Given the description of an element on the screen output the (x, y) to click on. 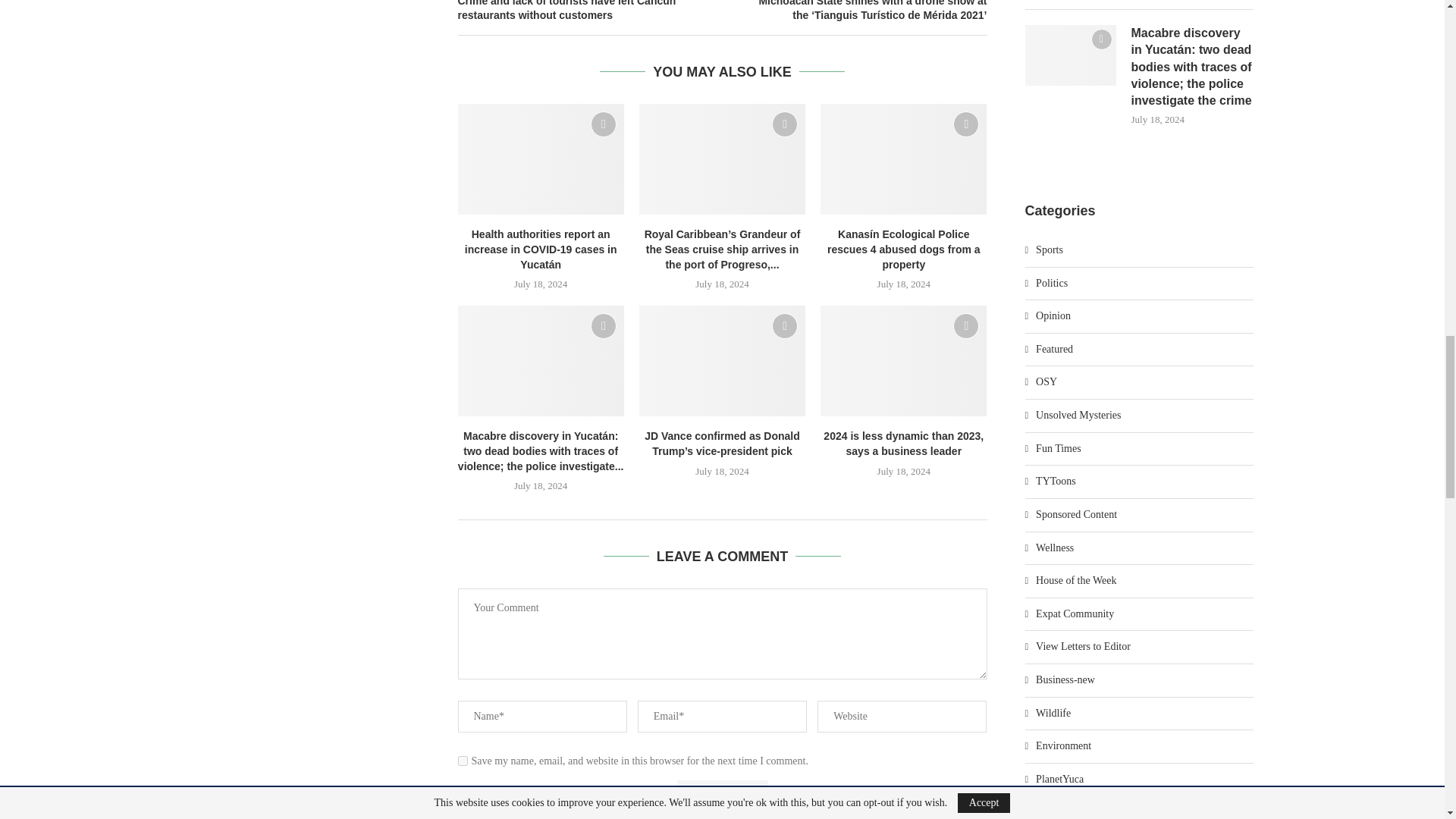
Submit (722, 795)
yes (462, 760)
